Given the description of an element on the screen output the (x, y) to click on. 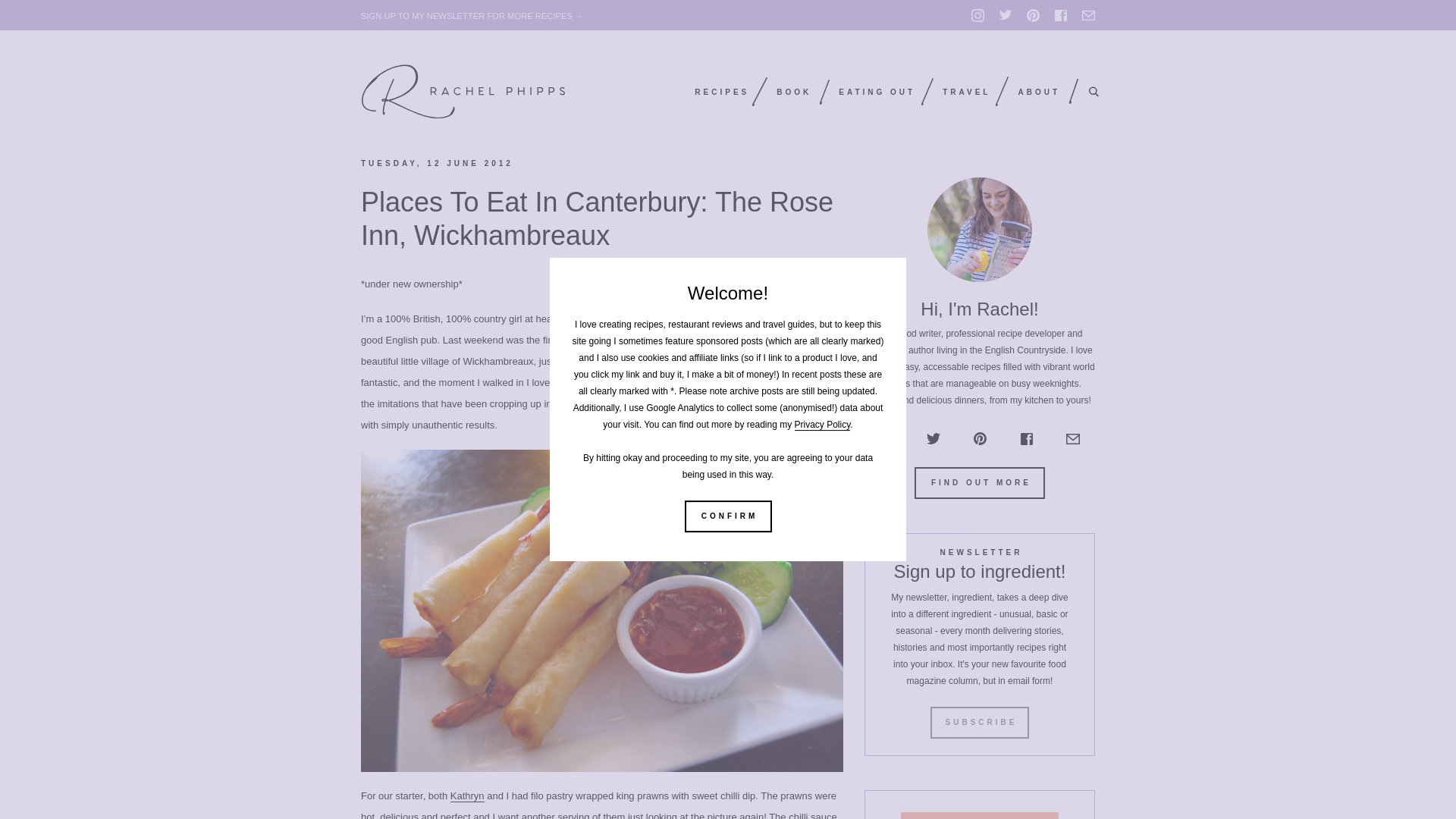
ABOUT (1038, 91)
TRAVEL (966, 91)
CONFIRM (727, 516)
EATING OUT (876, 91)
RECIPES (721, 91)
Privacy Policy (822, 424)
BOOK (793, 91)
